Given the description of an element on the screen output the (x, y) to click on. 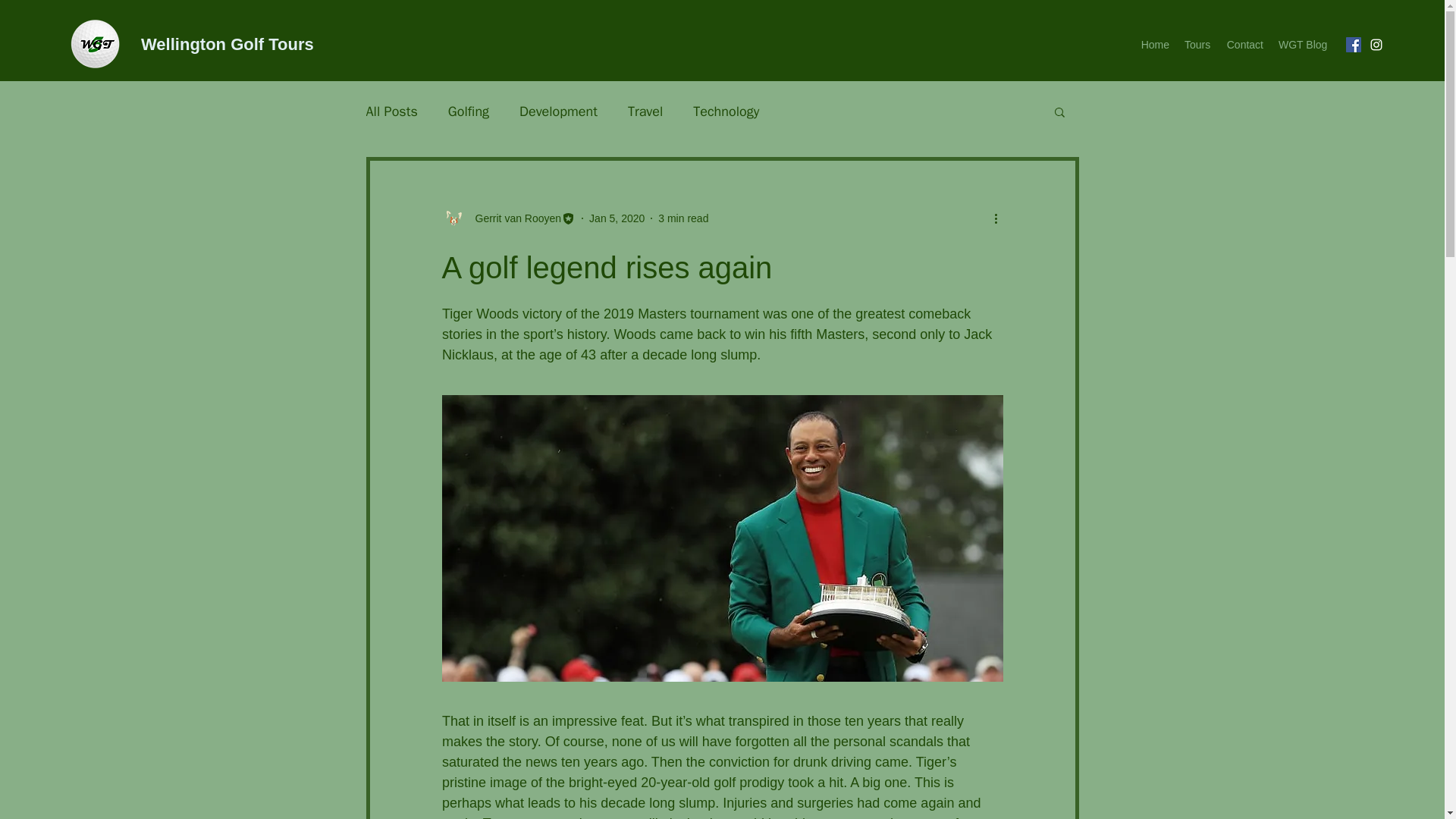
WGT Blog (1303, 44)
Tours (1196, 44)
3 min read (682, 218)
Gerrit van Rooyen (512, 218)
Jan 5, 2020 (617, 218)
Home (1154, 44)
Golfing (468, 111)
Contact (1244, 44)
Technology (725, 111)
Travel (644, 111)
